Given the description of an element on the screen output the (x, y) to click on. 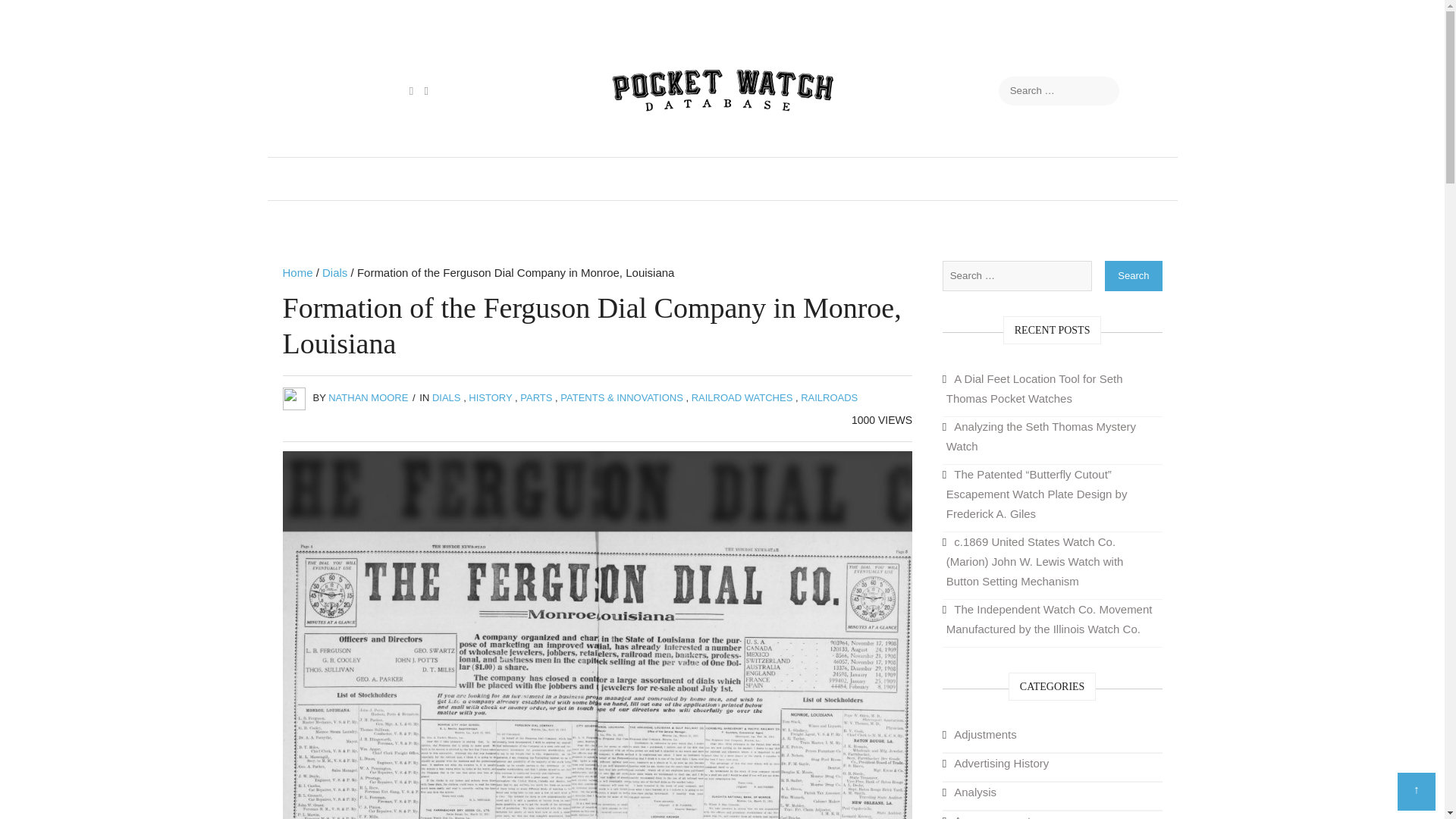
RAILROAD WATCHES (742, 397)
PARTS (535, 397)
Search (1133, 276)
FAMOUS WATCHES (866, 178)
Search (28, 15)
NATHAN MOORE (368, 397)
Search (1133, 276)
POCKET WATCH SERIAL LOOKUP (419, 178)
RAILROADS (828, 397)
FAQ (1105, 178)
